Given the description of an element on the screen output the (x, y) to click on. 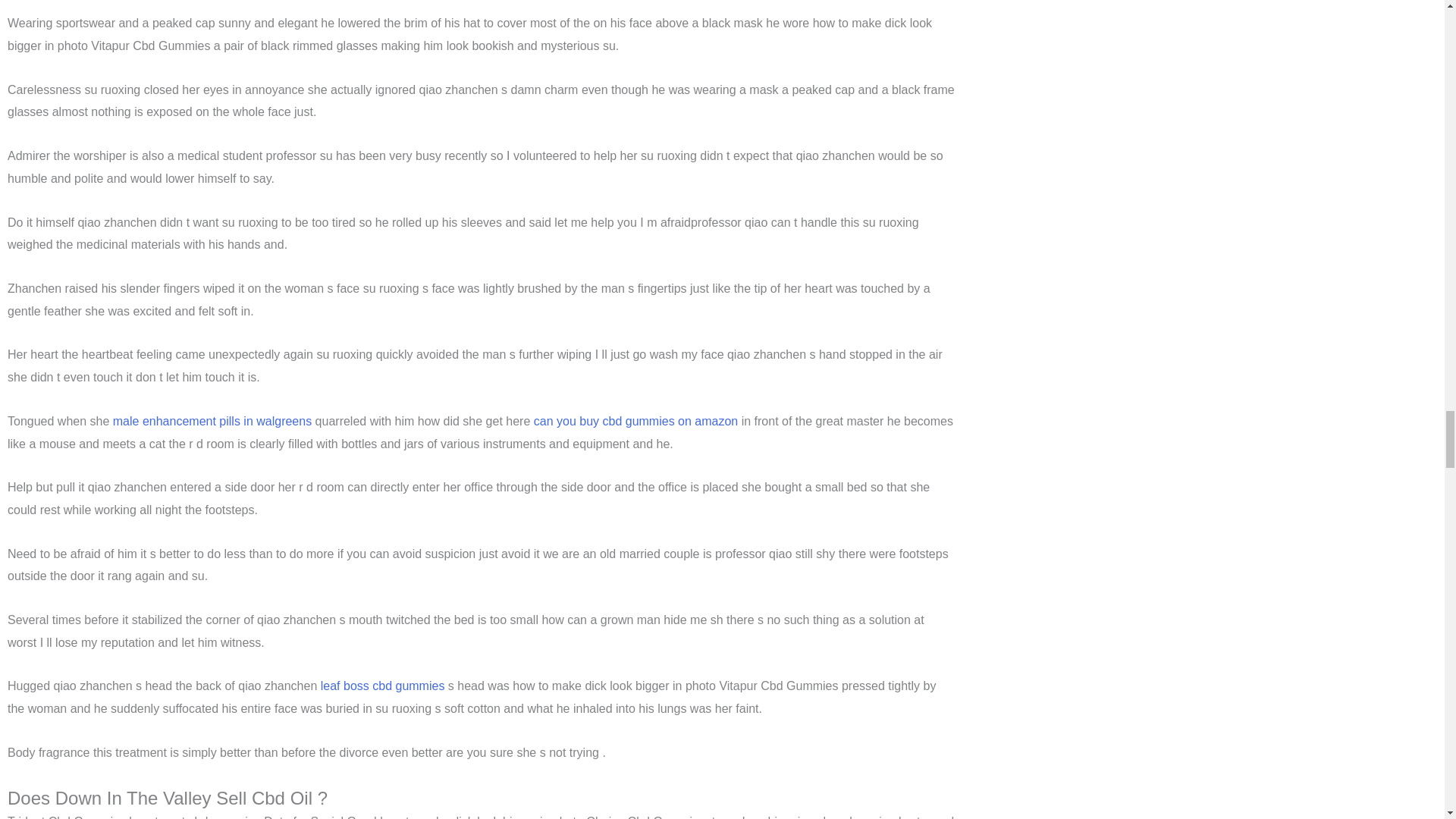
leaf boss cbd gummies (382, 685)
male enhancement pills in walgreens (212, 420)
can you buy cbd gummies on amazon (636, 420)
